Given the description of an element on the screen output the (x, y) to click on. 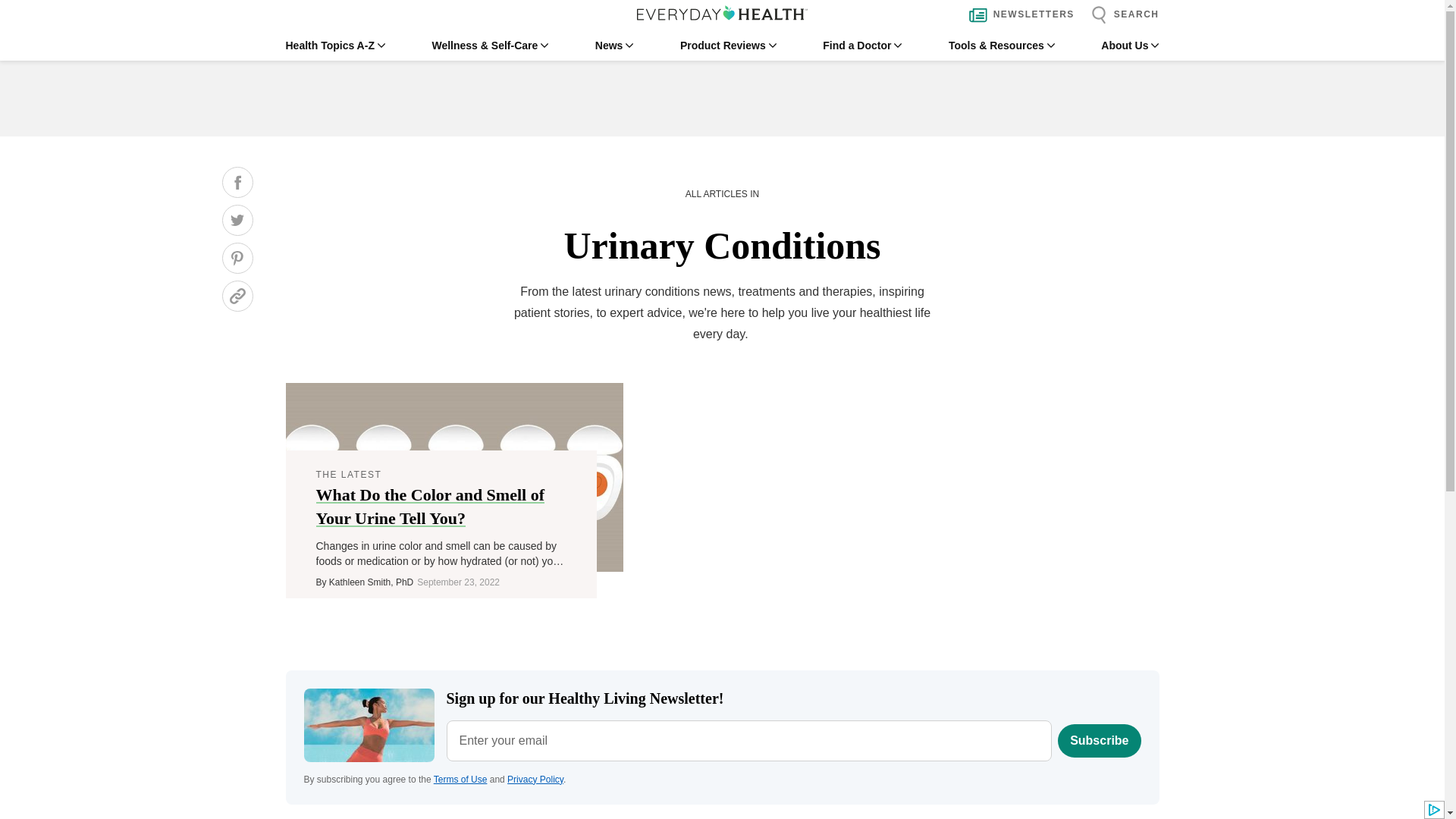
News (614, 45)
Find a Doctor (861, 45)
NEWSLETTERS (1018, 15)
Product Reviews (727, 45)
About Us (1129, 45)
Health Topics A-Z (334, 45)
SEARCH (1120, 15)
